Given the description of an element on the screen output the (x, y) to click on. 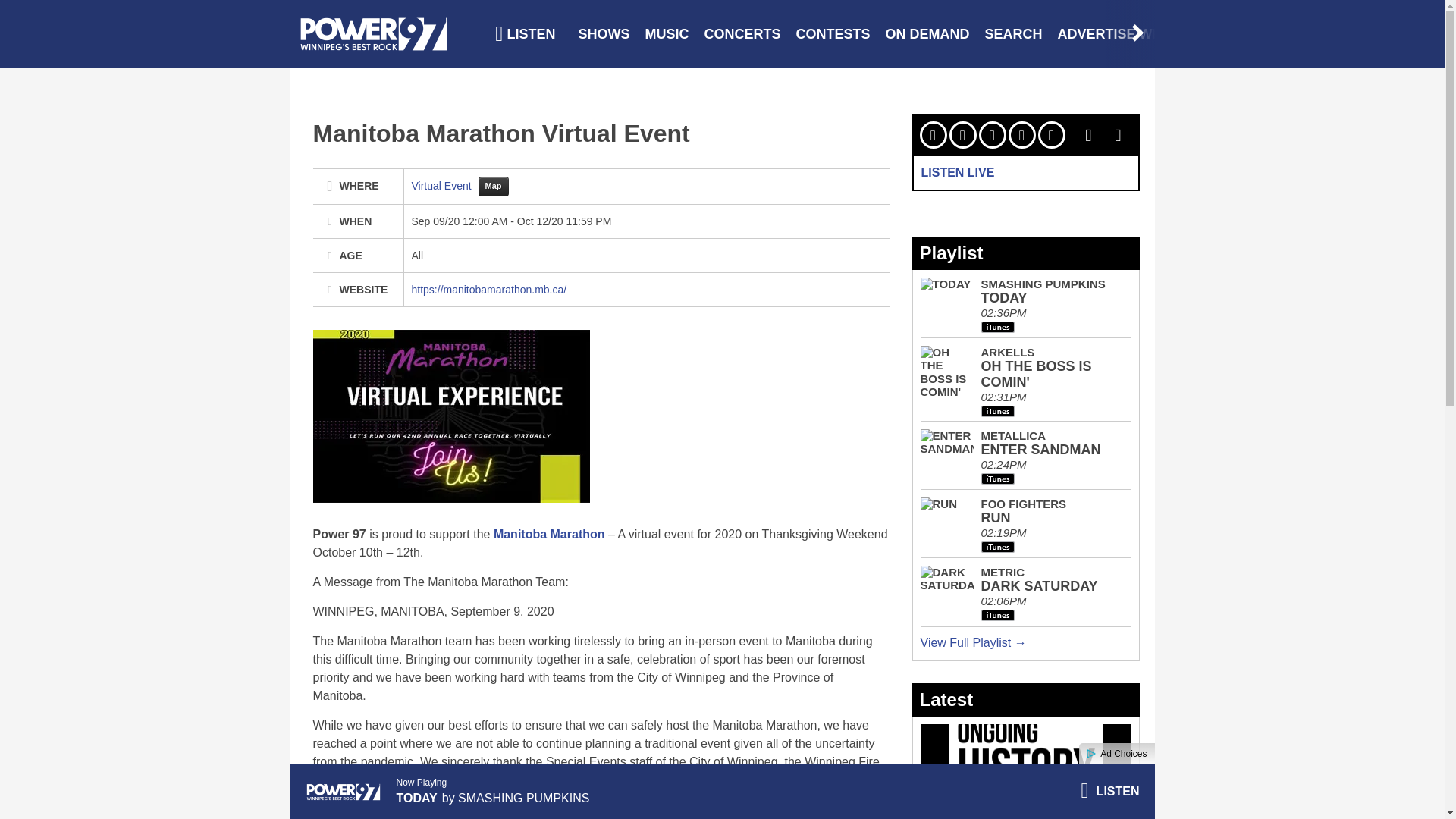
Virtual Event (442, 185)
LISTEN (525, 33)
ADVERTISE WITH US (1127, 33)
ON DEMAND (926, 33)
SHOWS (603, 33)
CONTESTS (833, 33)
Manitoba Marathon (549, 534)
Map (493, 186)
SEARCH (1012, 33)
CONCERTS (743, 33)
